Given the description of an element on the screen output the (x, y) to click on. 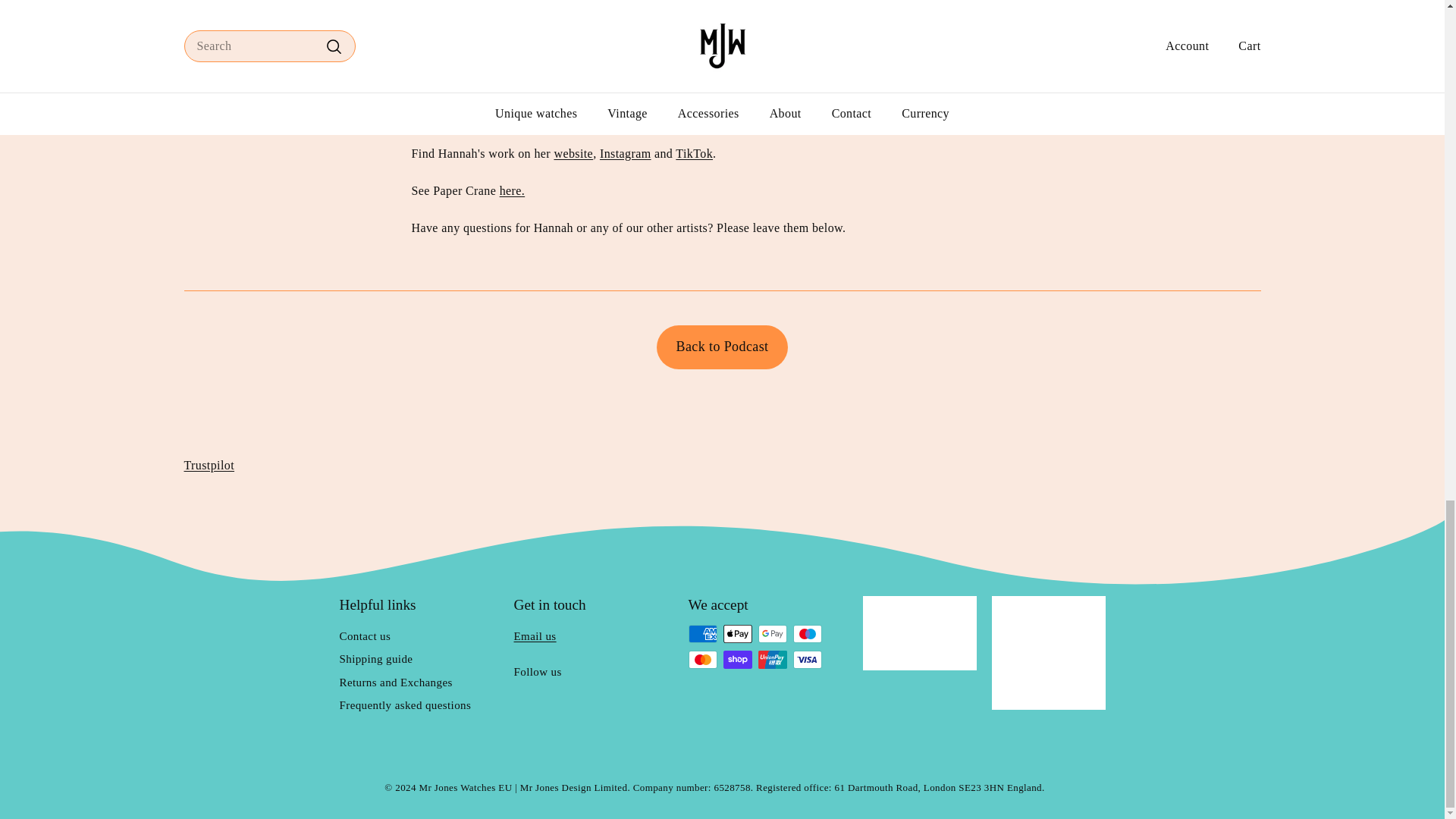
Google Pay (772, 633)
Visa (807, 659)
Mastercard (702, 659)
Shop Pay (737, 659)
Hannah Sung Website  (572, 153)
Apple Pay (737, 633)
Union Pay (772, 659)
American Express (702, 633)
Maestro (807, 633)
Hannah Sung Instagram (624, 153)
Paper Crane by Hannah Sung and Mr Jones Watches (512, 190)
Hannah Sung Meowyoface tiktok (694, 153)
